Given the description of an element on the screen output the (x, y) to click on. 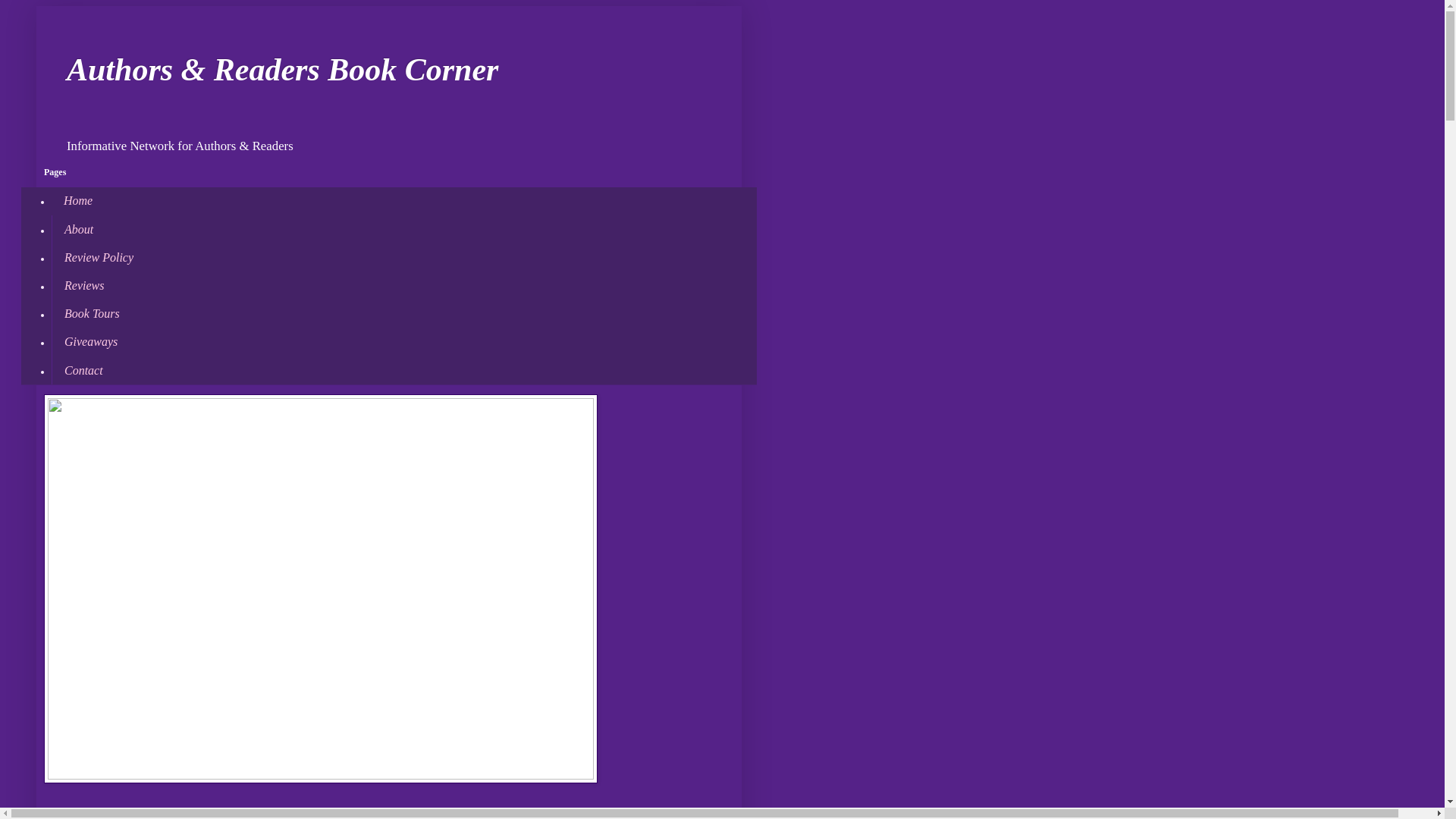
Giveaways (89, 342)
Contact (82, 370)
Reviews (83, 285)
Review Policy (97, 257)
Home (77, 201)
About (77, 229)
Book Tours (91, 314)
